Given the description of an element on the screen output the (x, y) to click on. 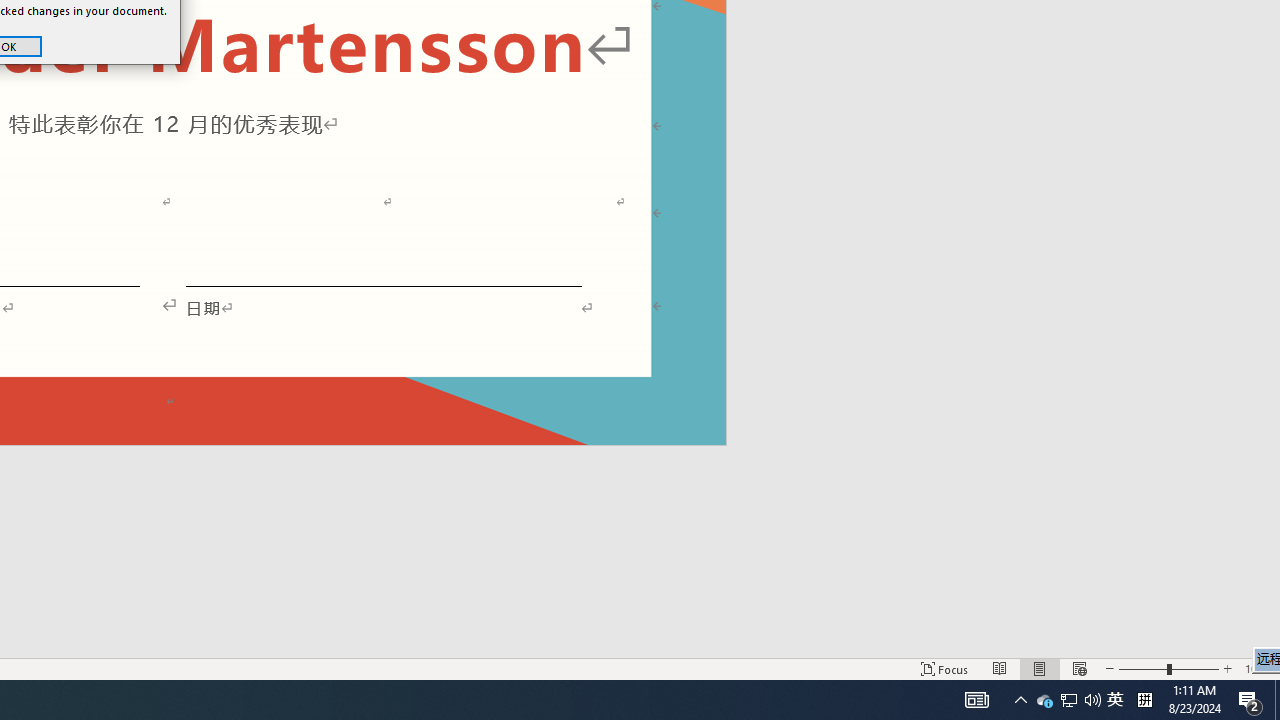
Print Layout (1039, 668)
Zoom Out (1142, 668)
Zoom 100% (1258, 668)
Notification Chevron (1020, 699)
Web Layout (1079, 668)
Tray Input Indicator - Chinese (Simplified, China) (1144, 699)
User Promoted Notification Area (1069, 699)
Q2790: 100% (1068, 699)
Read Mode (1092, 699)
Zoom In (1000, 668)
Focus  (1115, 699)
